Given the description of an element on the screen output the (x, y) to click on. 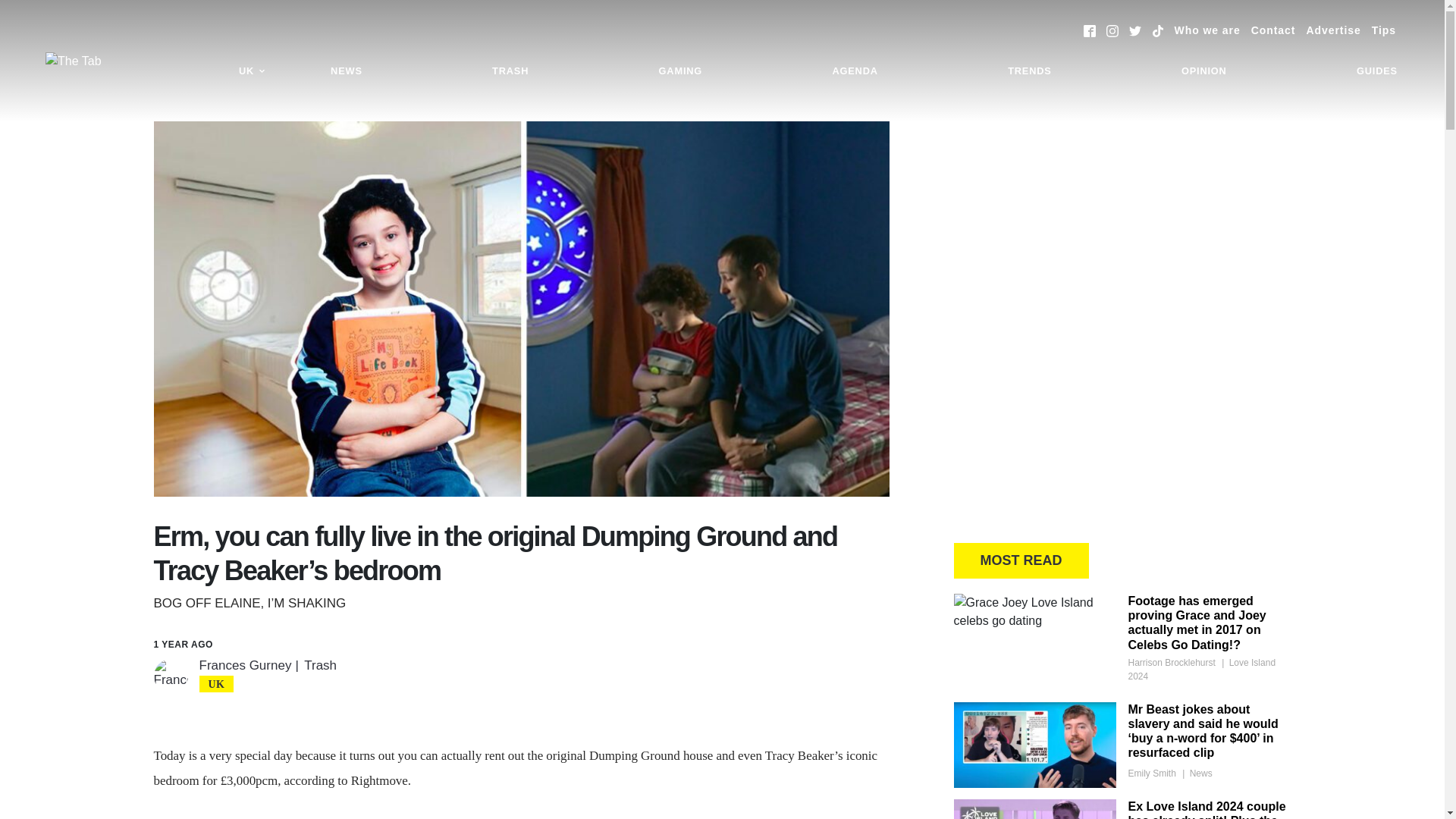
Tips (1383, 29)
GUIDES (1377, 71)
Contact (1272, 29)
GAMING (680, 71)
TRASH (510, 71)
AGENDA (854, 71)
Who we are (1207, 29)
UK (252, 71)
TRENDS (1028, 71)
NEWS (346, 71)
OPINION (1204, 71)
Advertise (1332, 29)
